Given the description of an element on the screen output the (x, y) to click on. 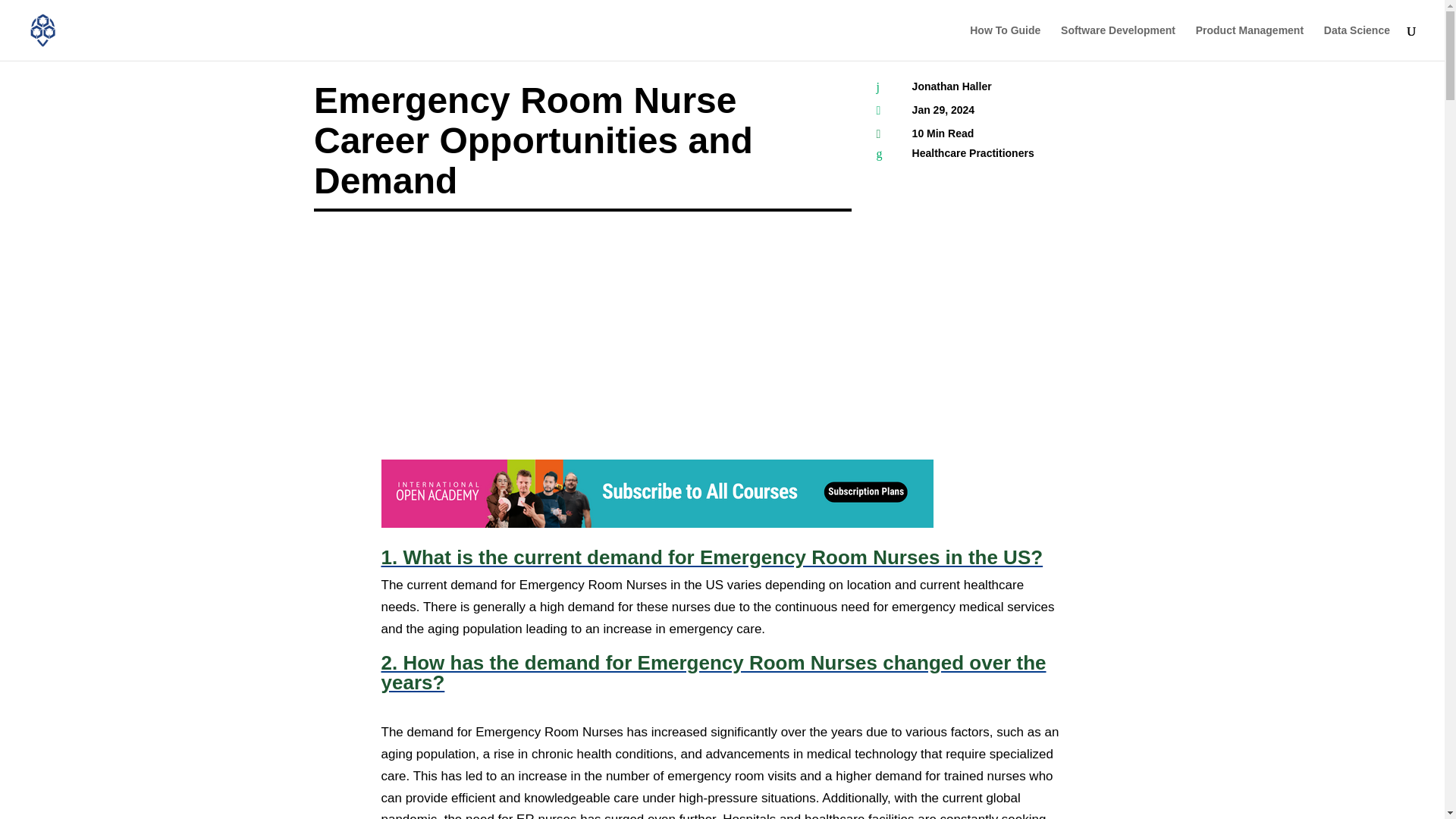
Product Management (1249, 42)
Software Development (1117, 42)
Jonathan Haller (951, 86)
How To Guide (1005, 42)
Healthcare Practitioners (972, 152)
Data Science (1356, 42)
